Given the description of an element on the screen output the (x, y) to click on. 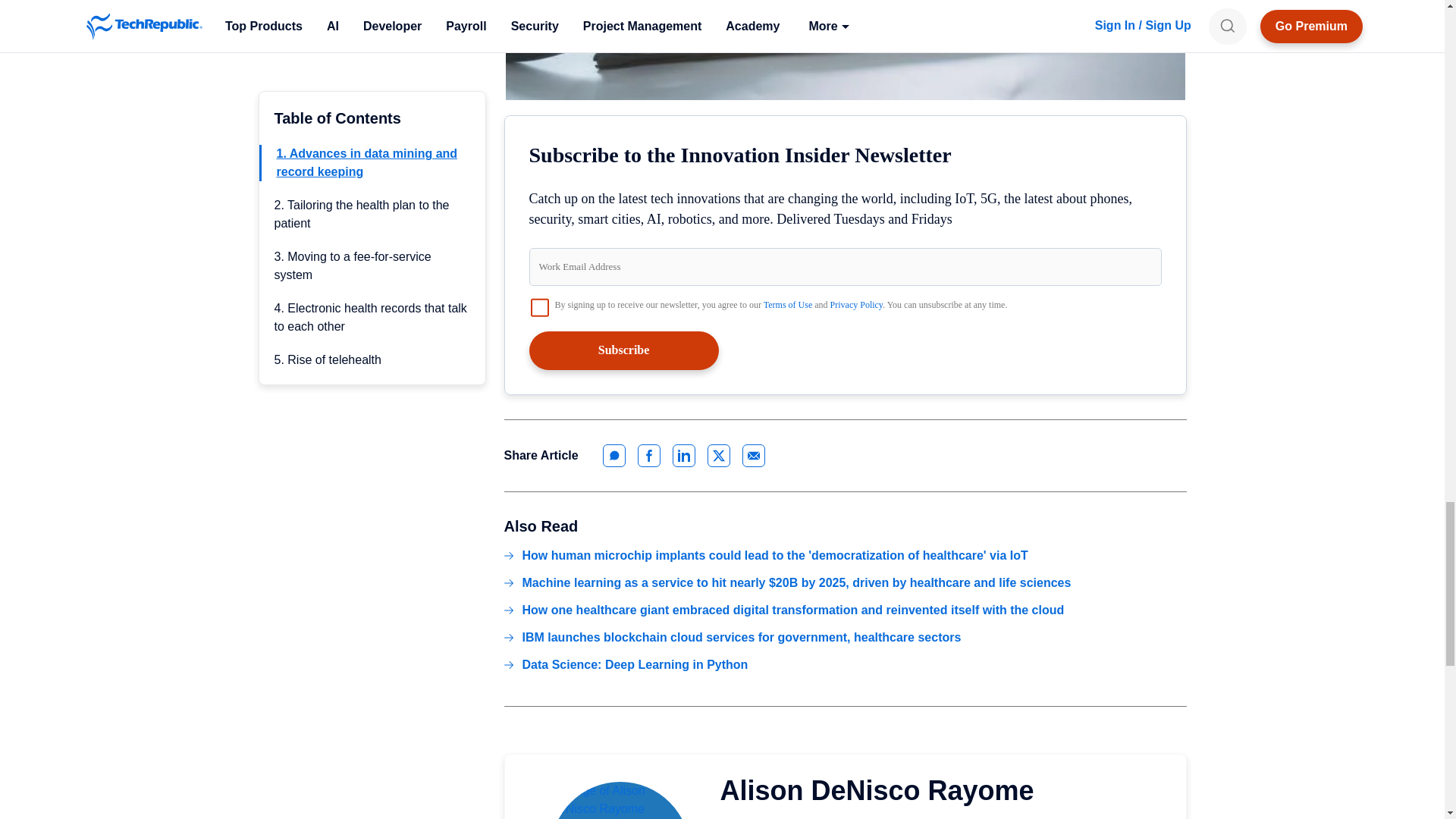
on (539, 307)
